Given the description of an element on the screen output the (x, y) to click on. 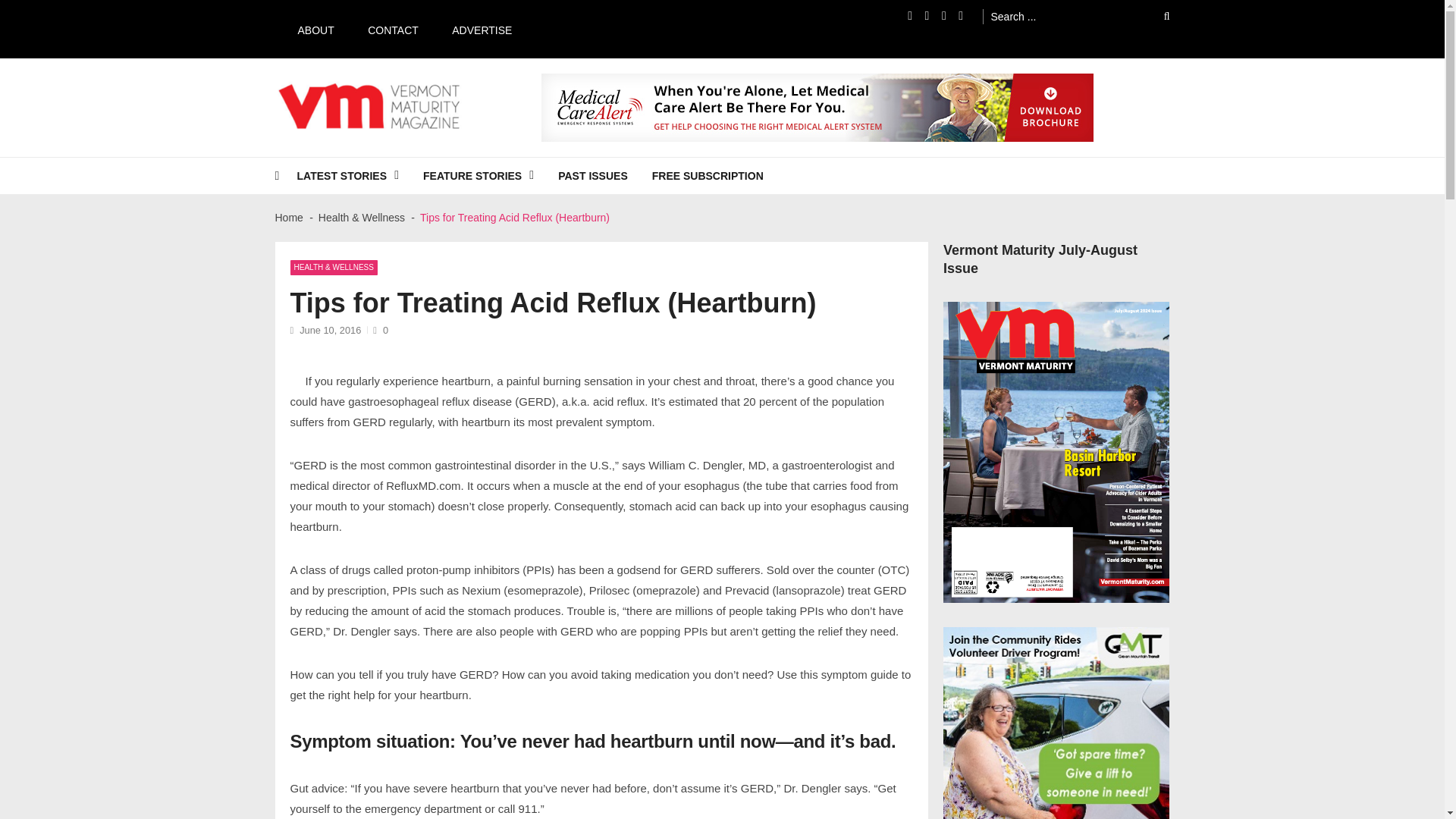
CONTACT (385, 29)
Search (1156, 15)
ABOUT (307, 29)
ADVERTISE (474, 29)
Search (1156, 15)
